Given the description of an element on the screen output the (x, y) to click on. 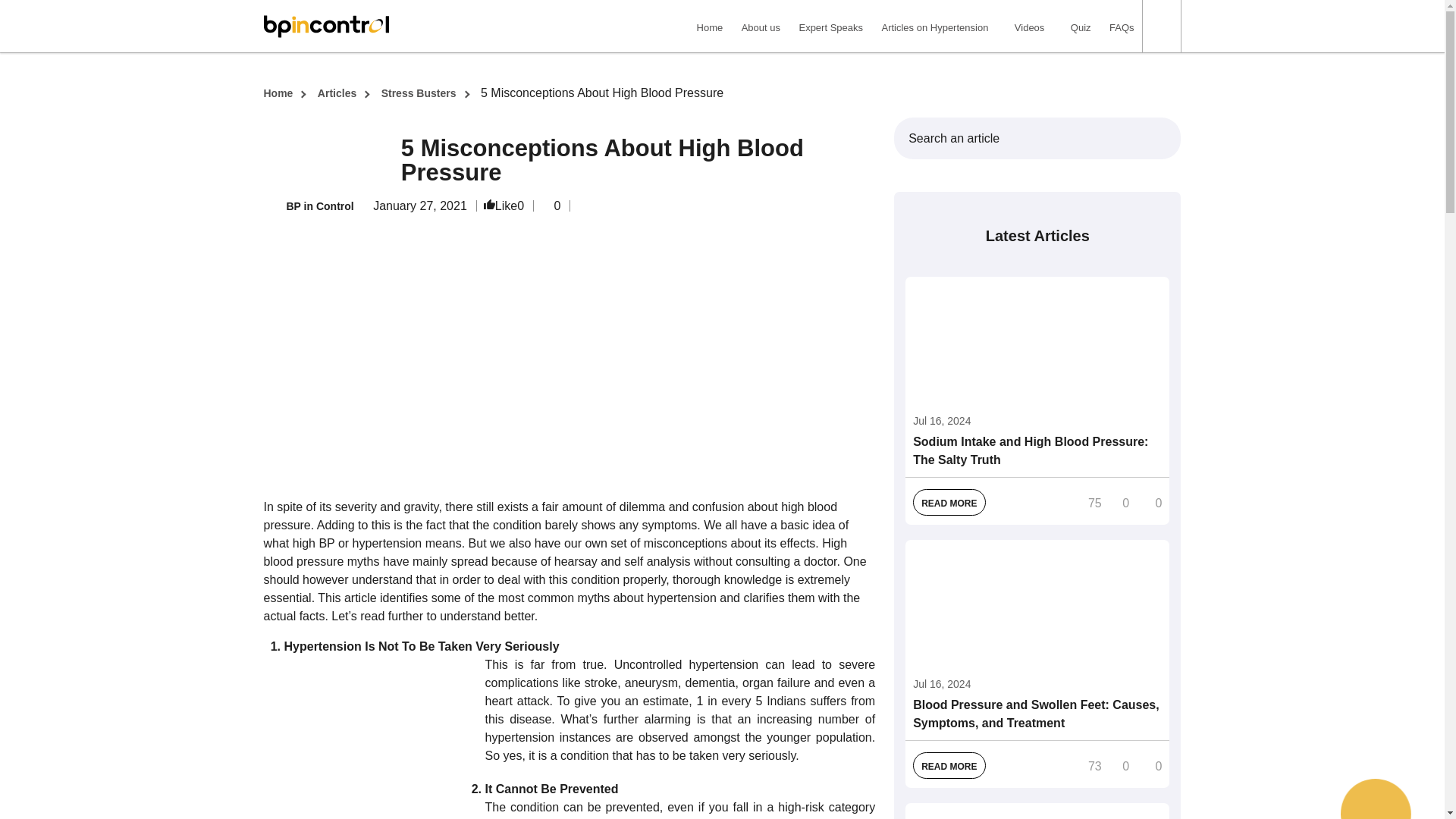
Videos (1029, 28)
Articles (934, 28)
Stress Busters (419, 92)
Videos (1029, 28)
About us (760, 28)
Articles on Hypertension (934, 28)
Expert Speaks (830, 28)
Home (278, 92)
Articles (336, 92)
Expert Speaks (830, 28)
Like0 (503, 206)
